Given the description of an element on the screen output the (x, y) to click on. 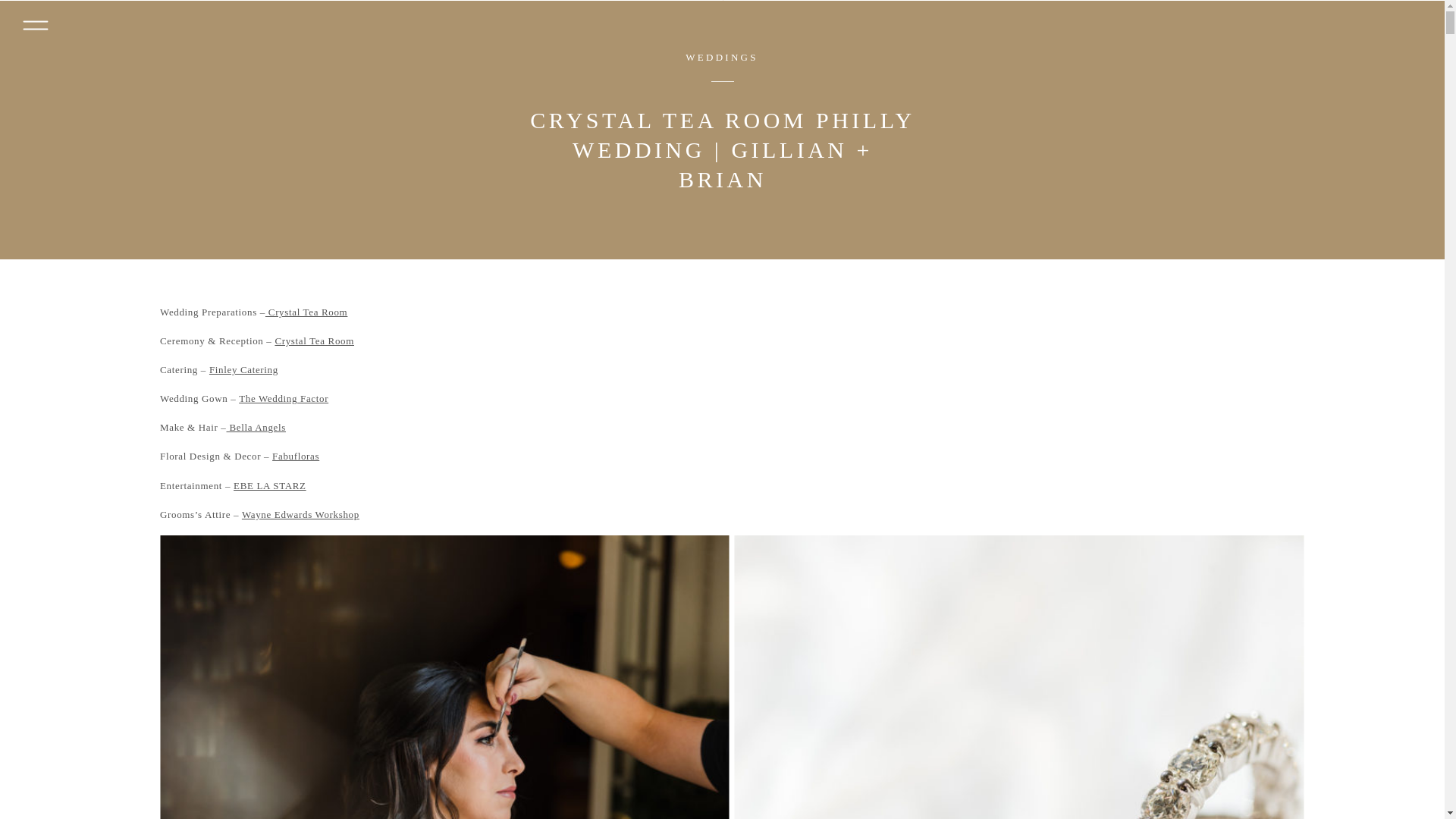
Wayne Edwards Workshop (300, 514)
EBE LA STARZ (268, 485)
Crystal Tea Room (314, 340)
WEDDINGS (721, 57)
The Wedding Factor (283, 398)
Finley Catering (243, 369)
Crystal Tea Room (305, 311)
Bella Angels (256, 427)
Fabufloras (295, 455)
